Given the description of an element on the screen output the (x, y) to click on. 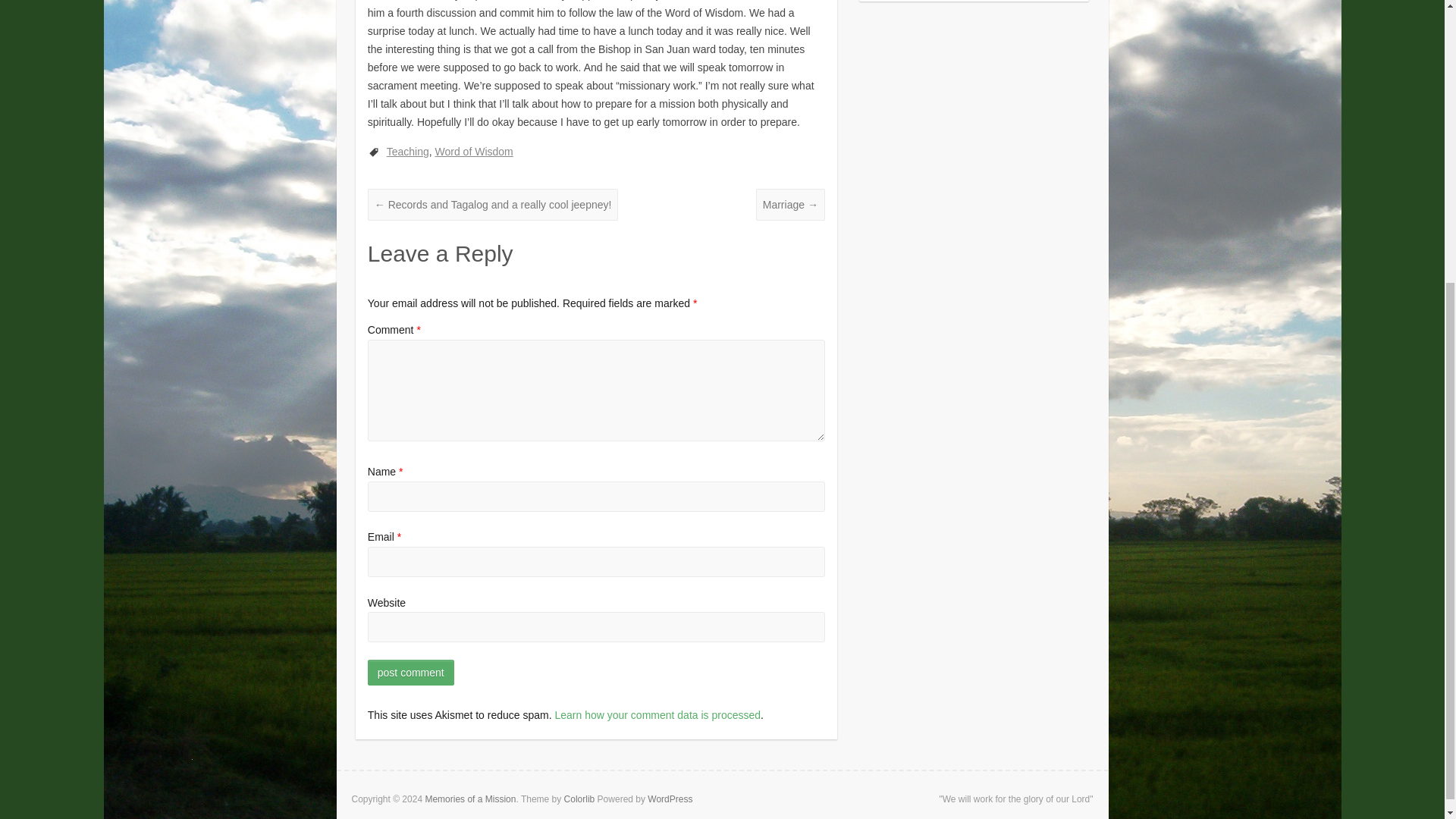
Memories of a Mission (470, 798)
Learn how your comment data is processed (657, 715)
WordPress (670, 798)
Memories of a Mission (470, 798)
Word of Wisdom (474, 151)
Post Comment (411, 672)
Post Comment (411, 672)
Colorlib (579, 798)
Teaching (408, 151)
Colorlib (579, 798)
